Given the description of an element on the screen output the (x, y) to click on. 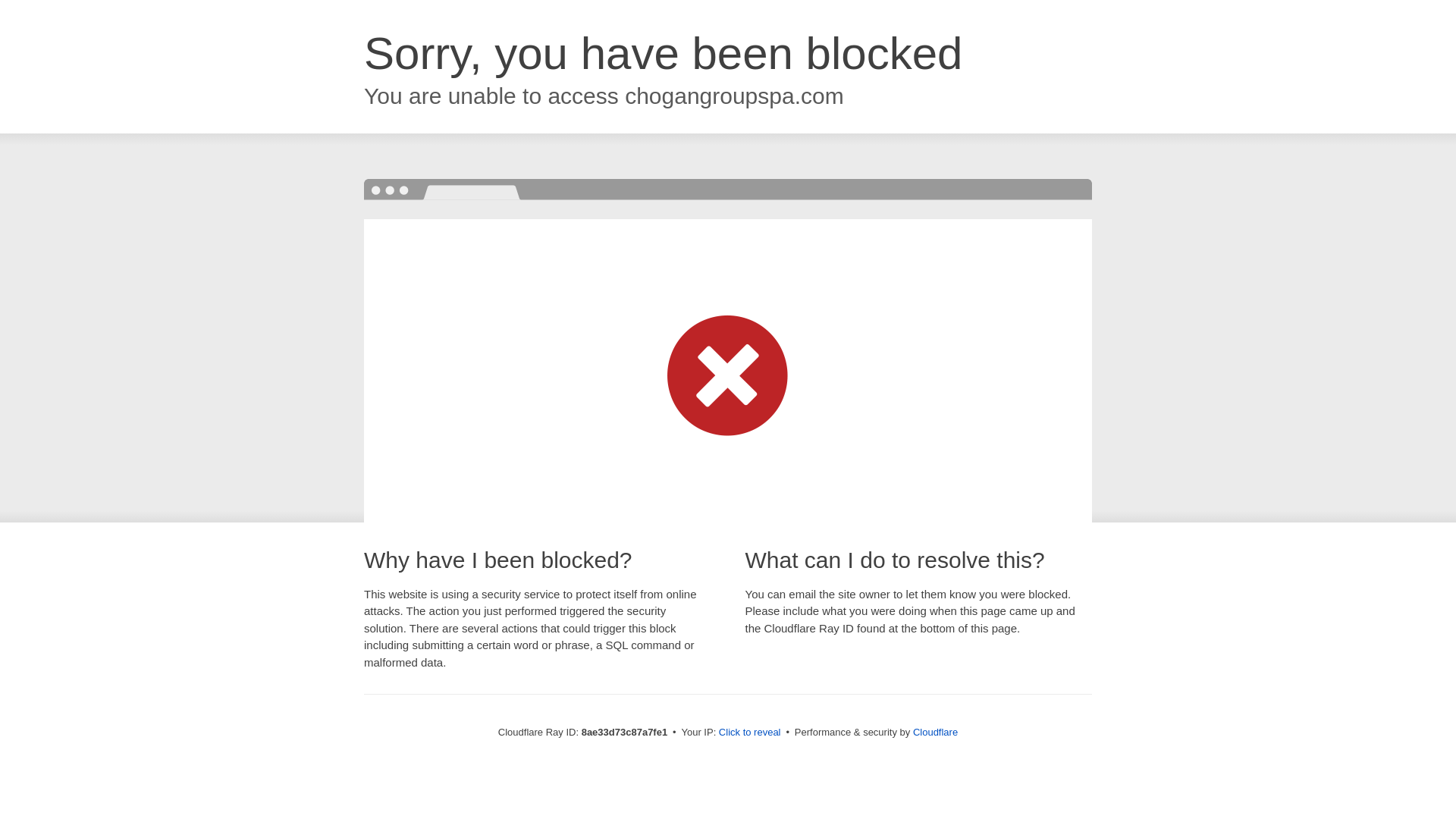
Cloudflare (935, 731)
Click to reveal (749, 732)
